Given the description of an element on the screen output the (x, y) to click on. 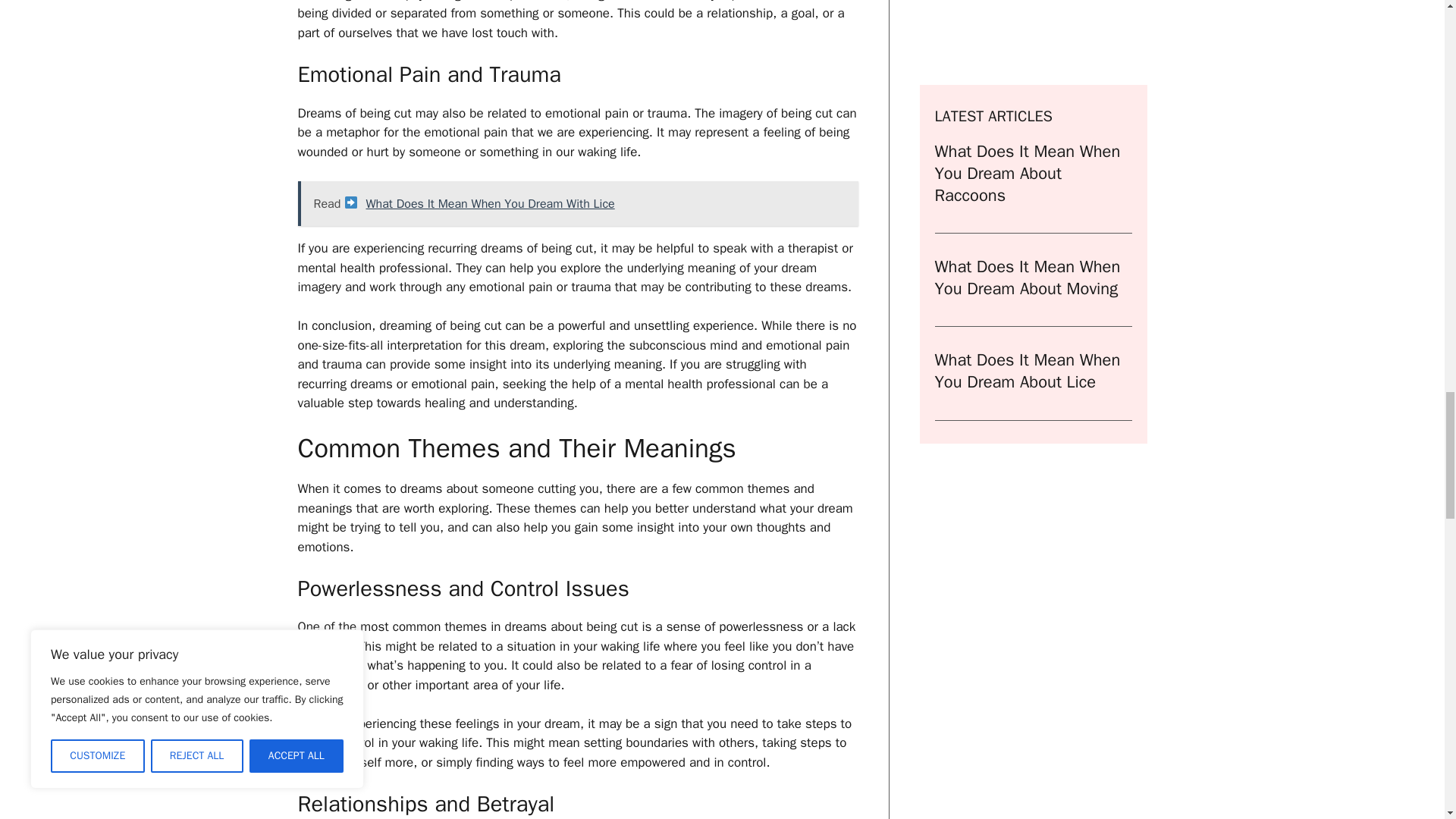
Read   What Does It Mean When You Dream With Lice (577, 203)
